Given the description of an element on the screen output the (x, y) to click on. 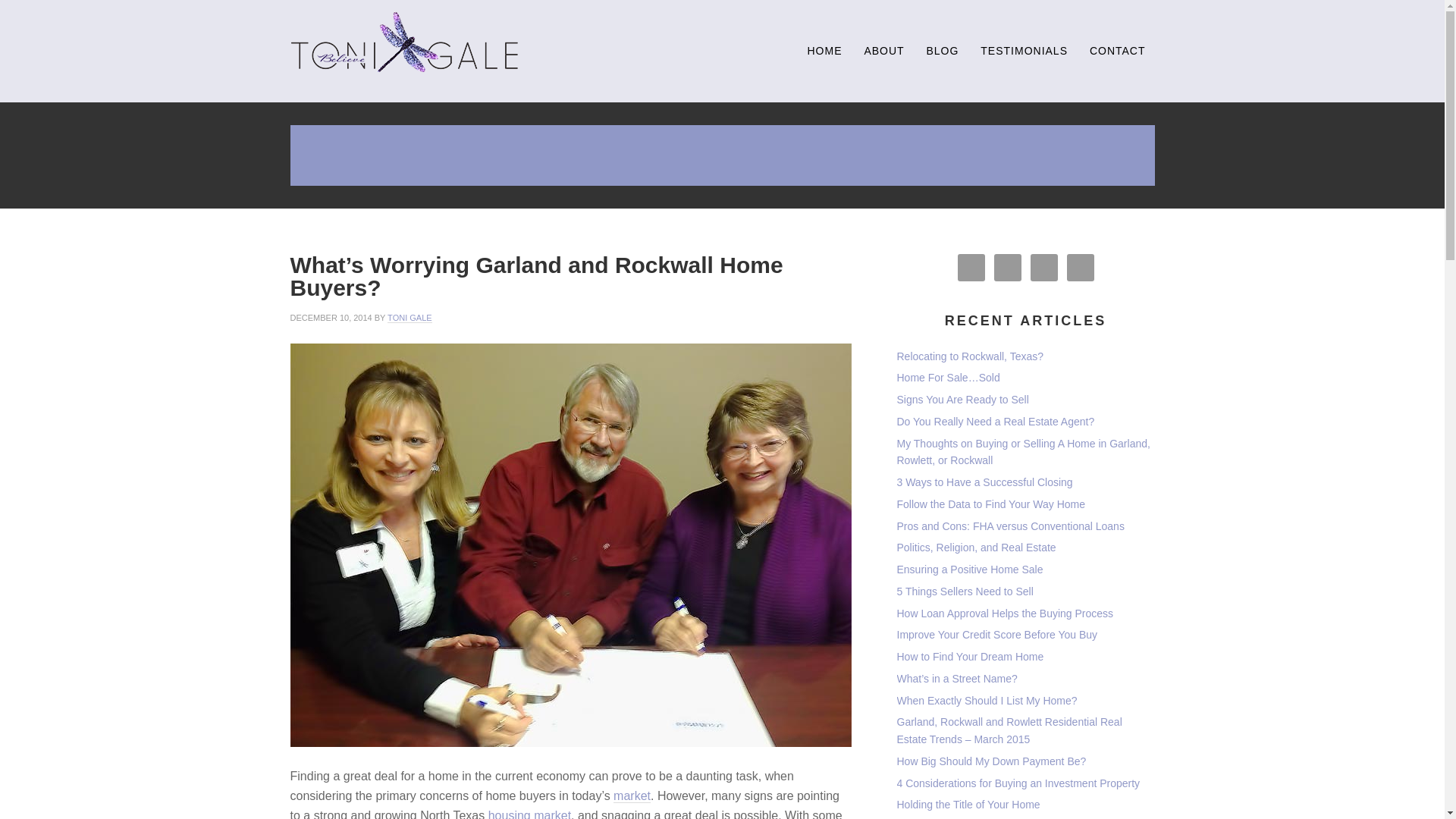
Do You Really Need a Real Estate Agent? (995, 421)
5 Things Sellers Need to Sell (964, 591)
Relocating to Rockwall, Texas? (969, 356)
Politics, Religion, and Real Estate (975, 547)
ABOUT (883, 51)
HOME (823, 51)
Follow the Data to Find Your Way Home (990, 503)
housing market (528, 814)
Signs You Are Ready to Sell (961, 399)
market (631, 796)
How to Find Your Dream Home (969, 656)
3 Ways to Have a Successful Closing (983, 481)
CONTACT (1117, 51)
TONI GALE (408, 317)
TONI GALE (402, 41)
